Given the description of an element on the screen output the (x, y) to click on. 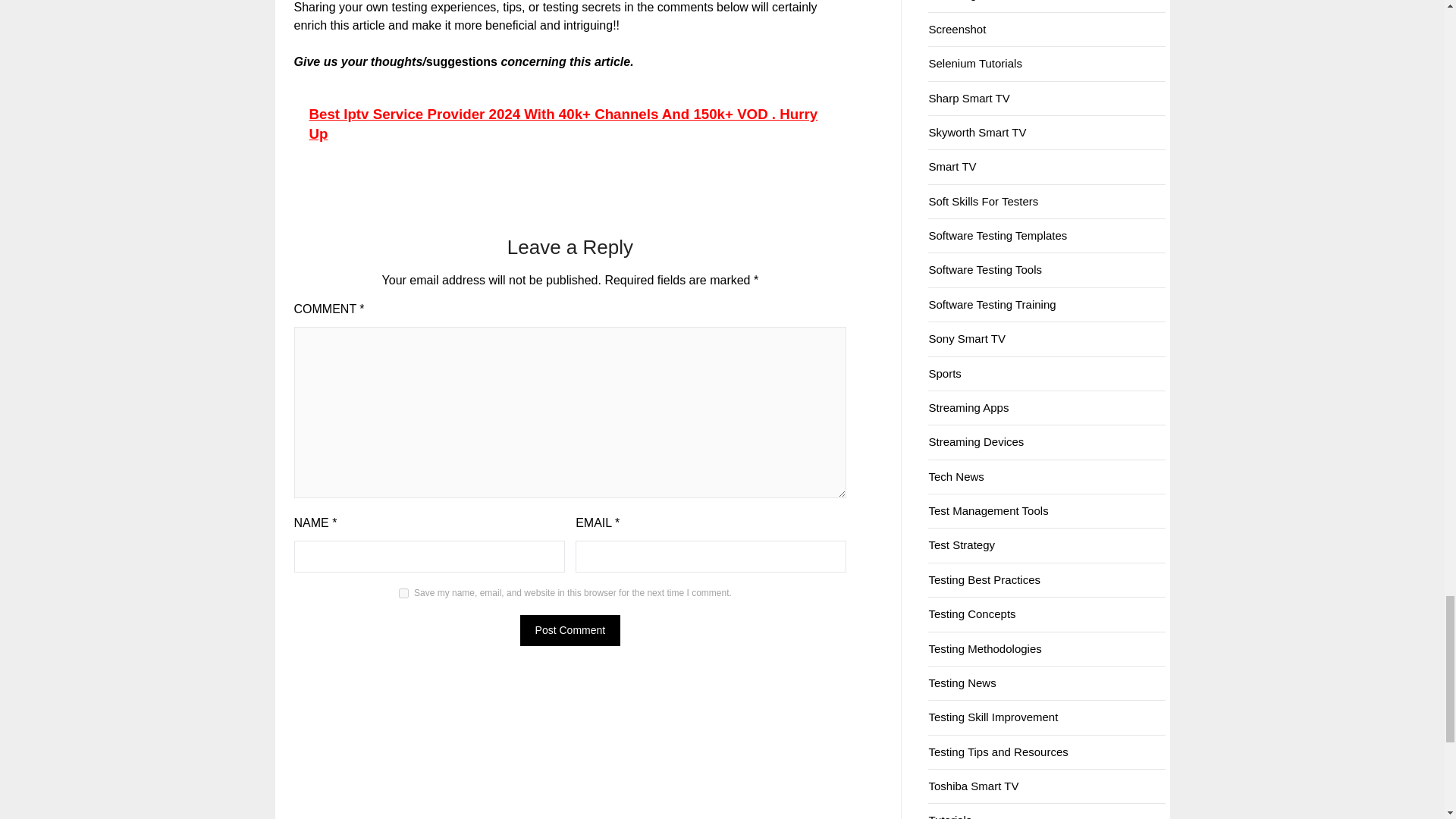
yes (403, 593)
Post Comment (570, 630)
Post Comment (570, 630)
